Given the description of an element on the screen output the (x, y) to click on. 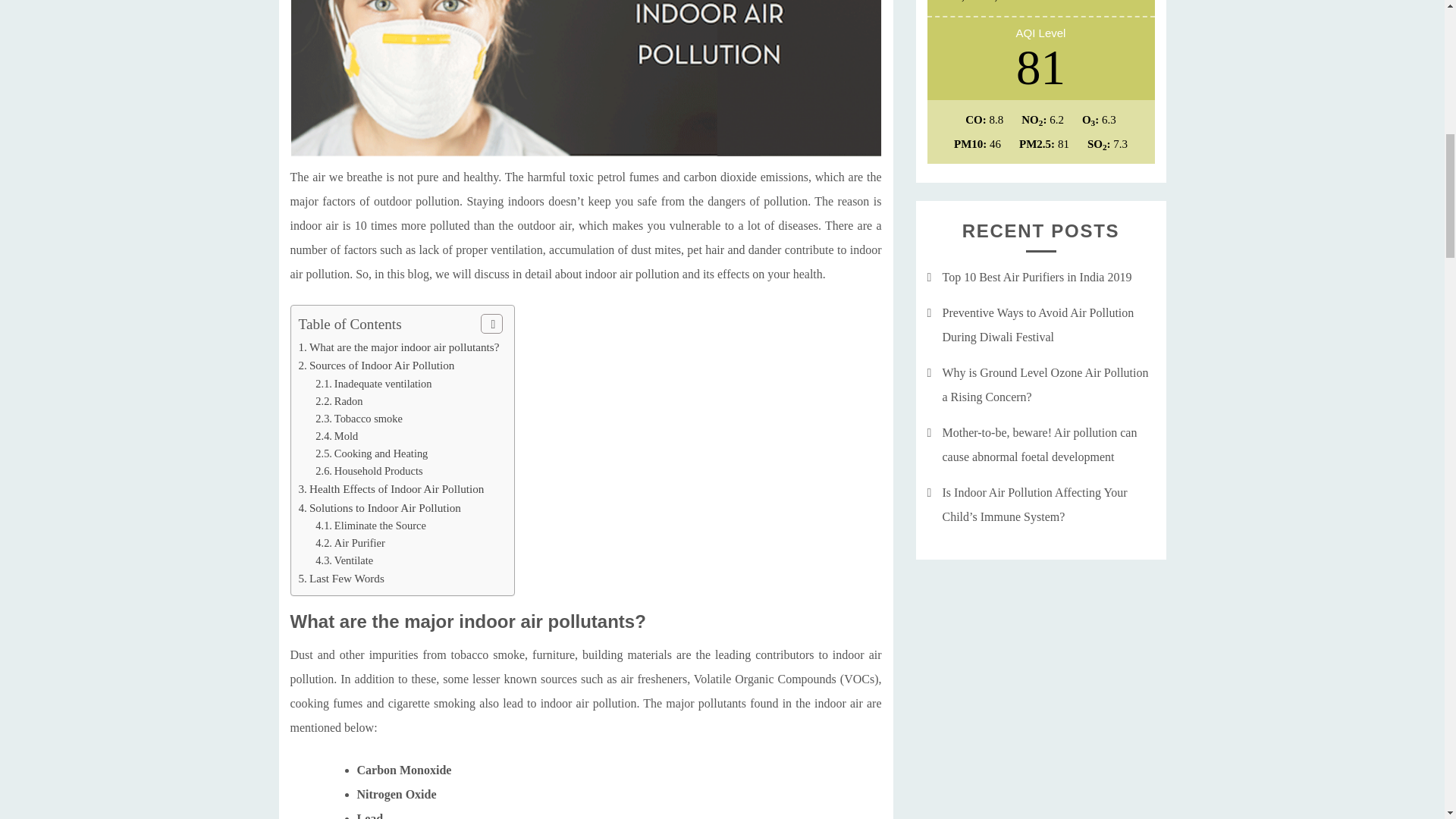
Sources of Indoor Air Pollution (381, 364)
Sources of Indoor Air Pollution (381, 364)
Air Purifier (359, 542)
Eliminate the Source (380, 525)
Health Effects of Indoor Air Pollution (395, 488)
Solutions to Indoor Air Pollution (384, 507)
Solutions to Indoor Air Pollution (384, 507)
Last Few Words (346, 577)
Radon (348, 400)
Inadequate ventilation (383, 383)
